Given the description of an element on the screen output the (x, y) to click on. 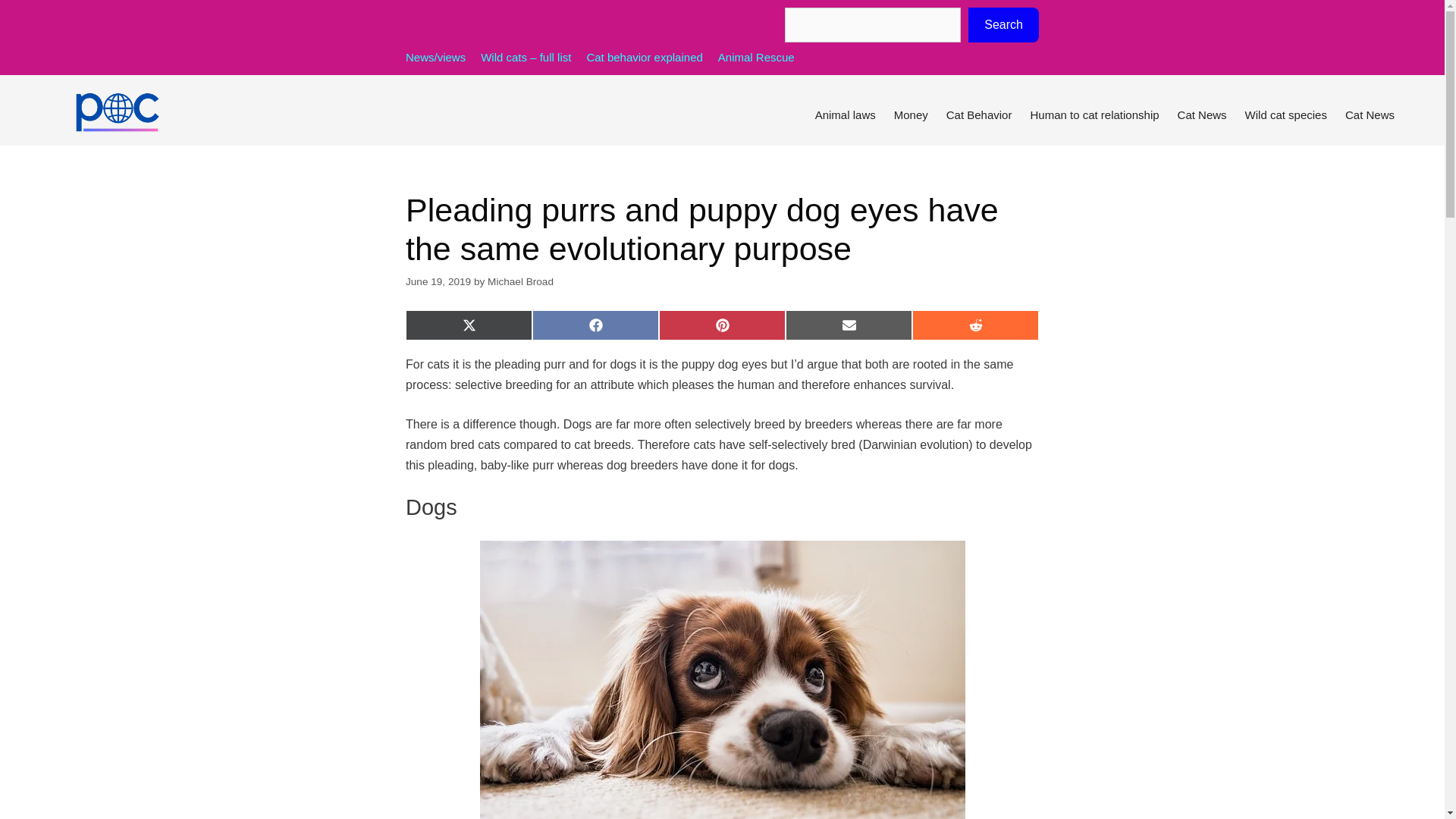
Share on Facebook (595, 325)
Michael Broad (520, 281)
Wild cat species (1286, 115)
Share on Pinterest (722, 325)
Share on Email (849, 325)
Cat Behavior (979, 115)
Animal laws (845, 115)
Cat behavior explained (643, 56)
Animal Rescue (755, 56)
Share on Reddit (975, 325)
